Given the description of an element on the screen output the (x, y) to click on. 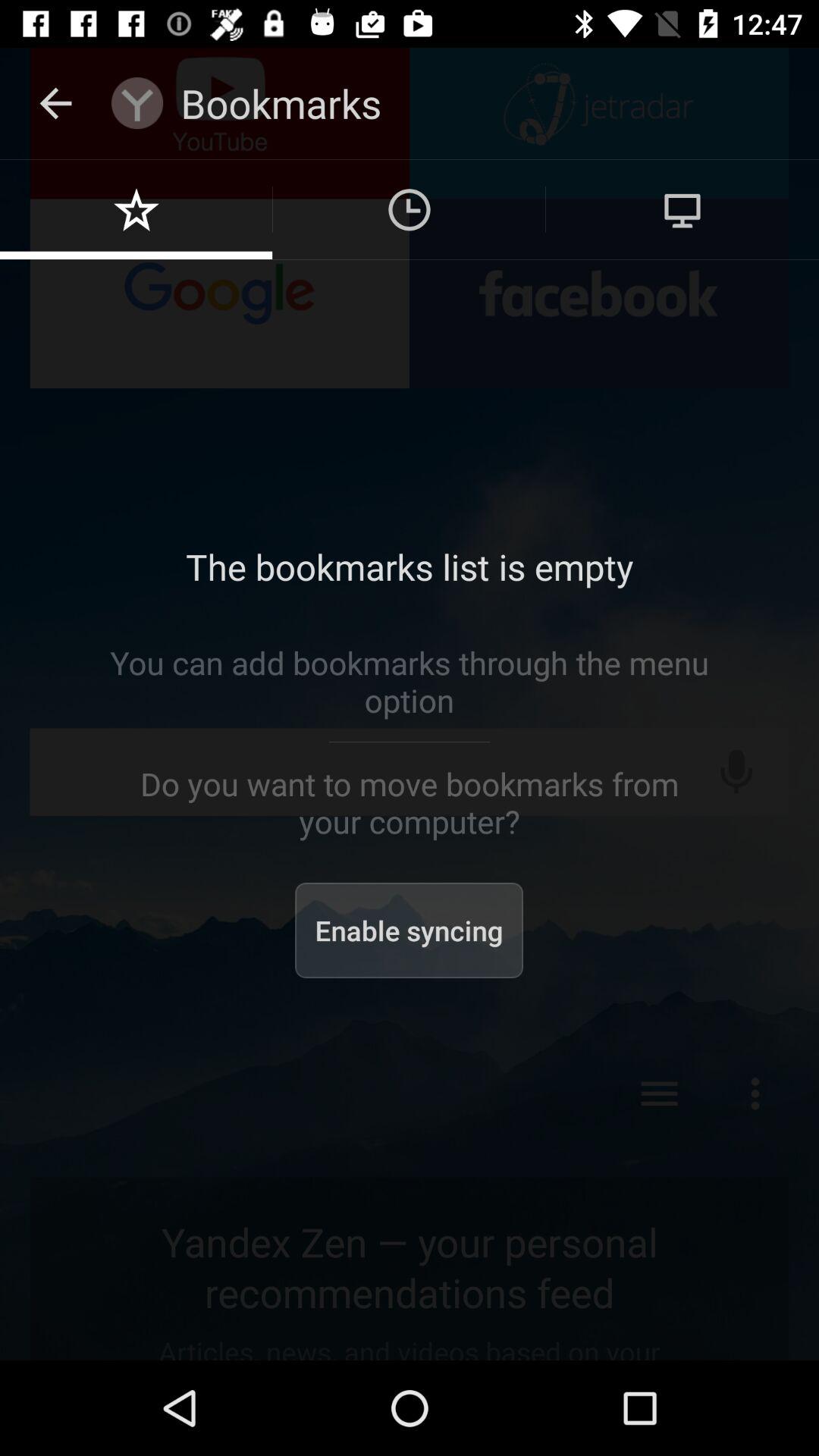
choose the enable syncing item (409, 930)
